Given the description of an element on the screen output the (x, y) to click on. 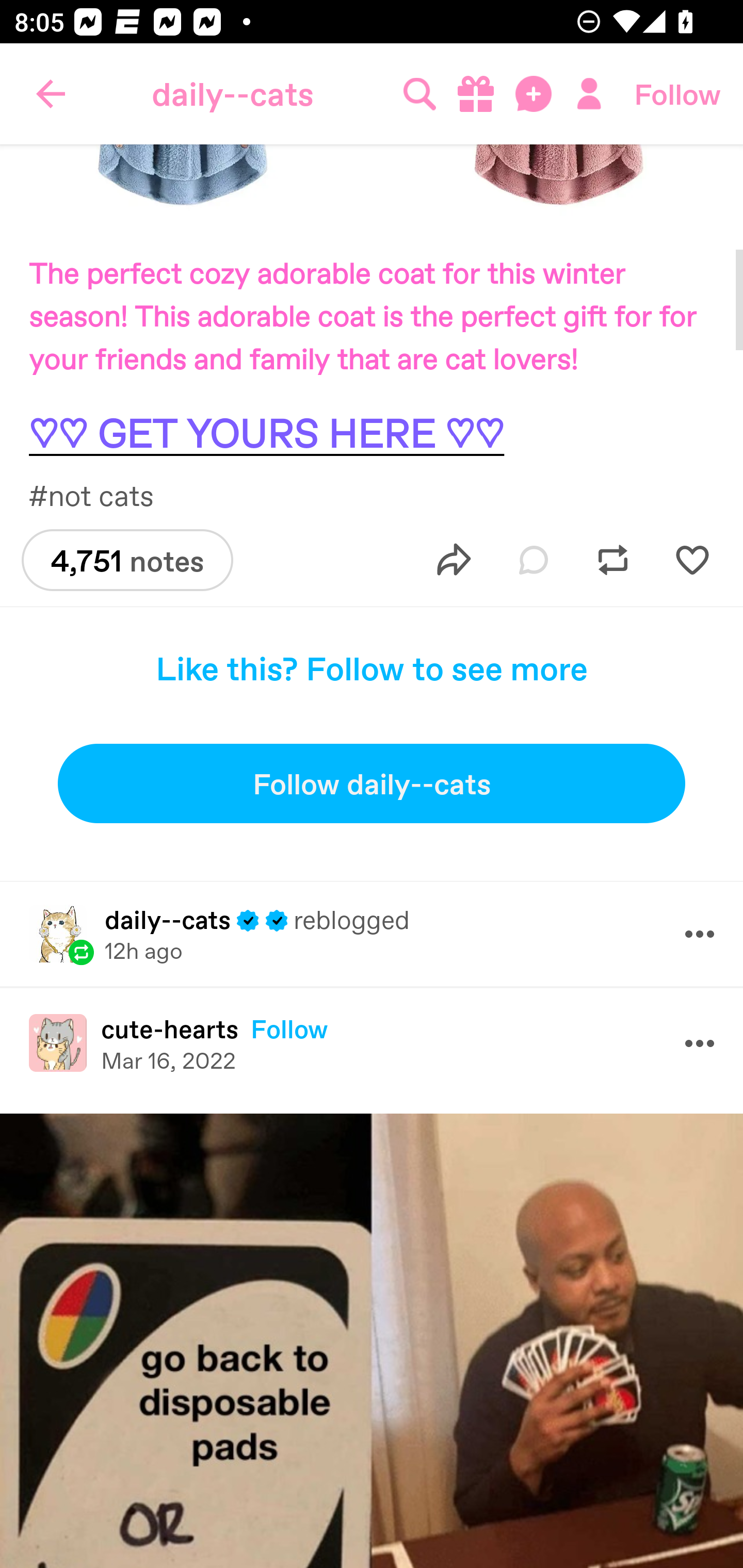
Navigate up (50, 93)
Messages (535, 93)
Follow (677, 93)
#not cats (99, 494)
Share post to message (454, 559)
Reblog (612, 559)
Like (691, 559)
4,751 notes (127, 560)
Like this? Follow to see more (371, 667)
Follow daily--cats (371, 783)
